Given the description of an element on the screen output the (x, y) to click on. 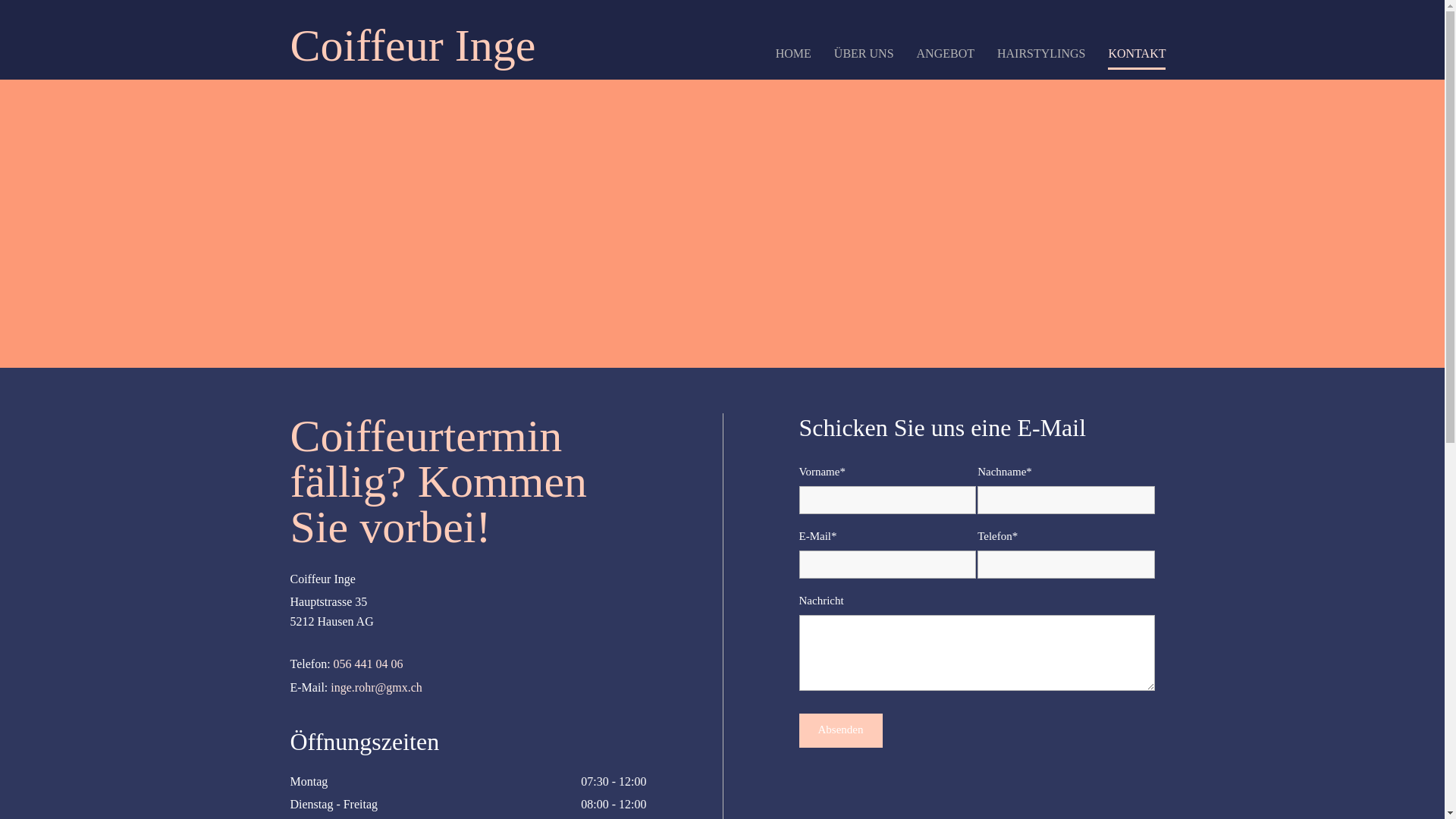
KONTAKT Element type: text (1136, 50)
056 441 04 06 Element type: text (368, 663)
ANGEBOT Element type: text (945, 50)
Absenden Element type: text (840, 730)
HAIRSTYLINGS Element type: text (1041, 50)
HOME Element type: text (793, 50)
Coiffeur Inge Element type: text (412, 45)
inge.rohr@gmx.ch Element type: text (375, 686)
